Given the description of an element on the screen output the (x, y) to click on. 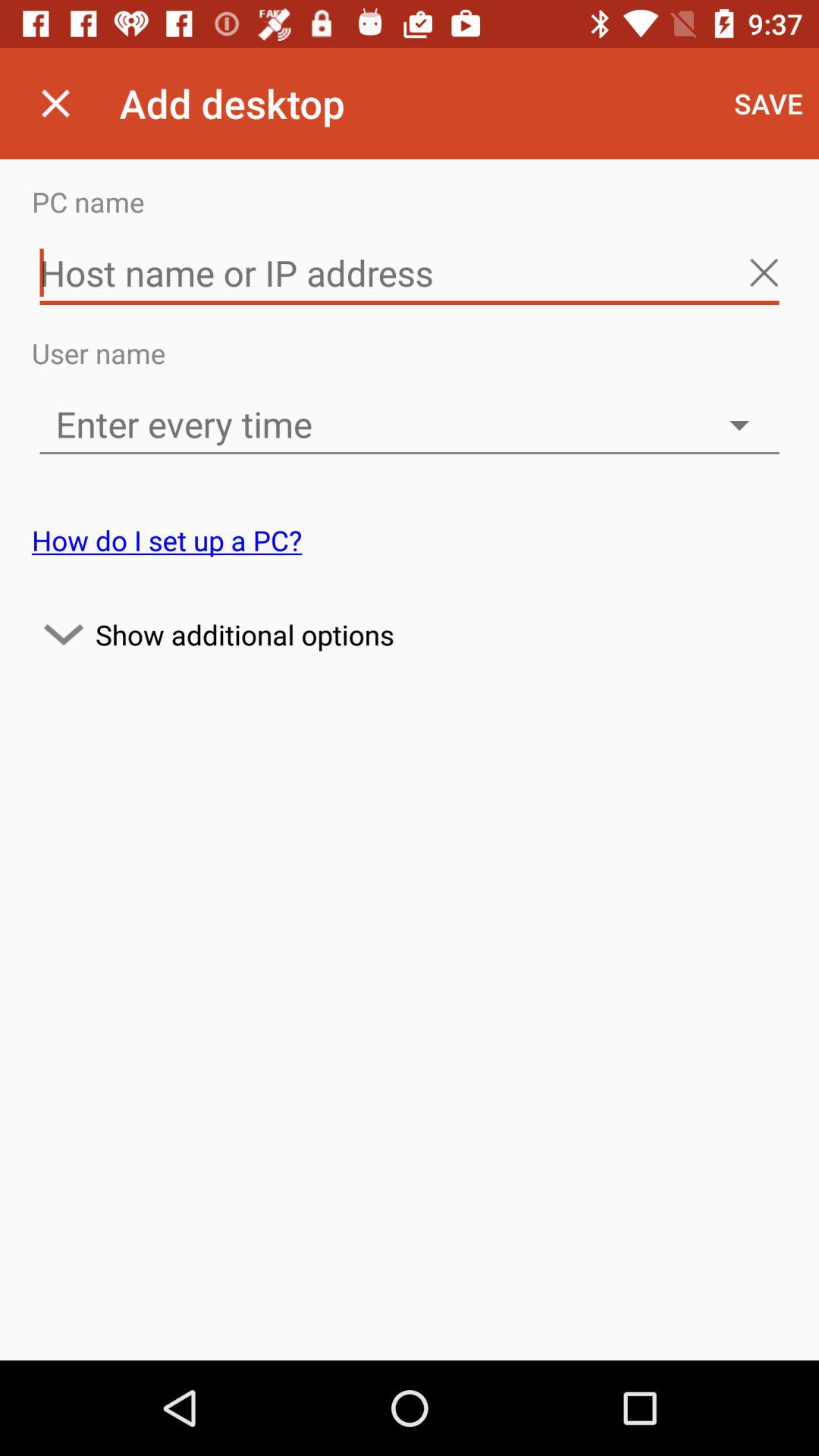
open the item above show additional options (166, 540)
